Given the description of an element on the screen output the (x, y) to click on. 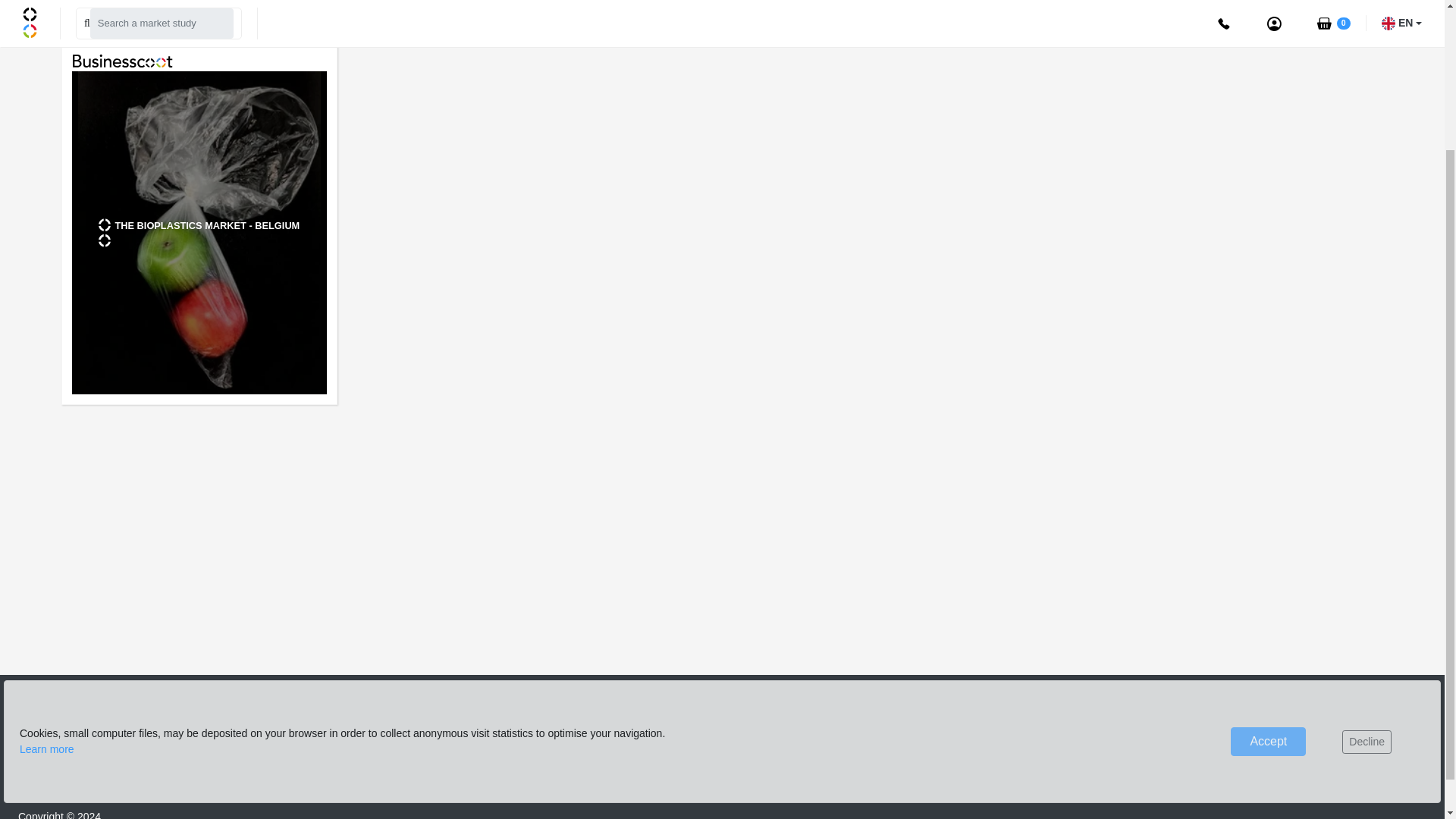
Who are we? (1002, 728)
Accept (1268, 561)
Podcast (991, 756)
Learn more (47, 568)
Decline (1366, 560)
Companies (760, 728)
Terms and conditions (1259, 784)
